Given the description of an element on the screen output the (x, y) to click on. 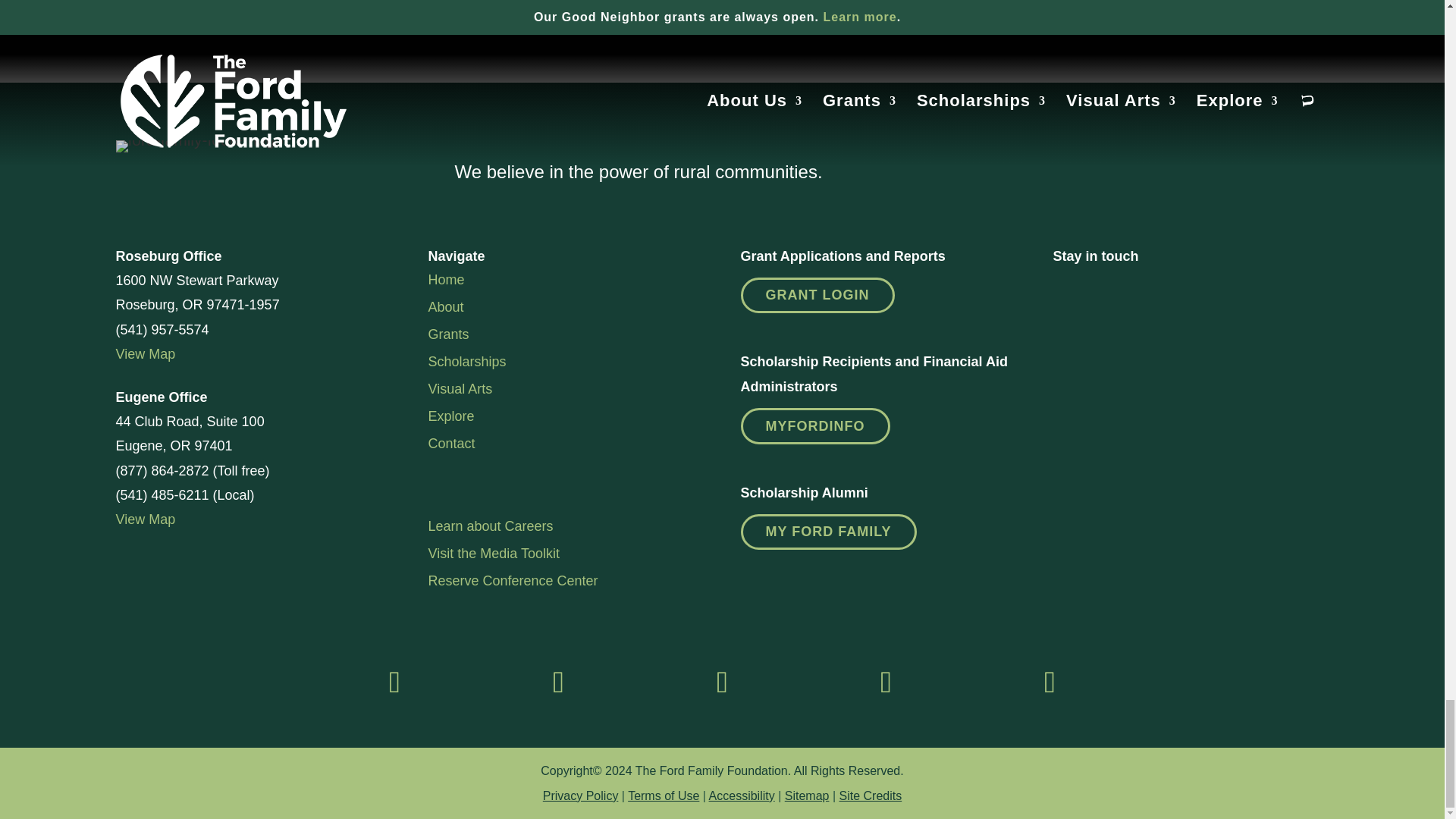
Follow on Instagram (557, 681)
footer-logo (198, 146)
Follow on LinkedIn (721, 681)
Follow on Youtube (1049, 681)
Follow on X (885, 681)
Follow on Facebook (394, 681)
